Given the description of an element on the screen output the (x, y) to click on. 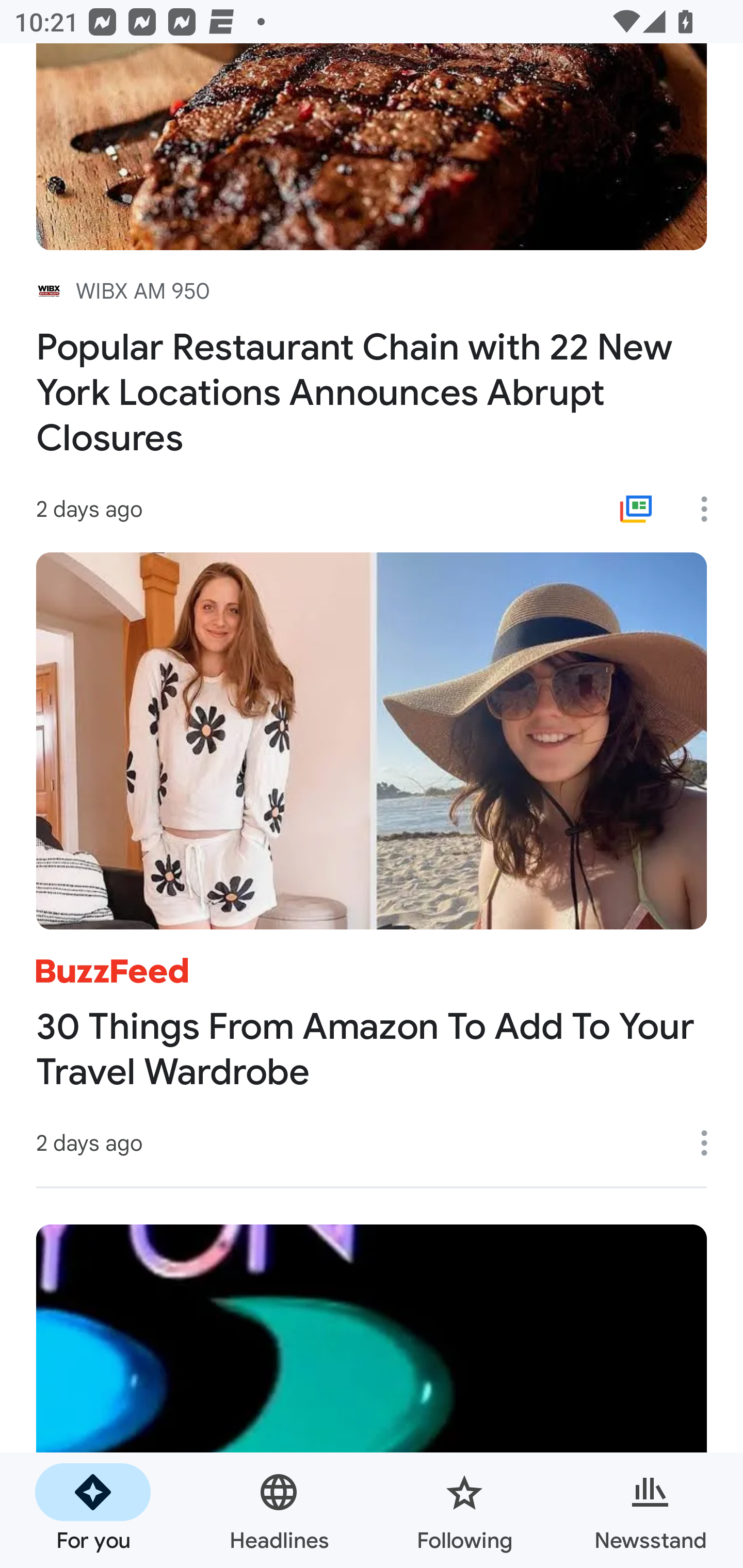
More options (711, 508)
More options (711, 1143)
For you (92, 1509)
Headlines (278, 1509)
Following (464, 1509)
Newsstand (650, 1509)
